Given the description of an element on the screen output the (x, y) to click on. 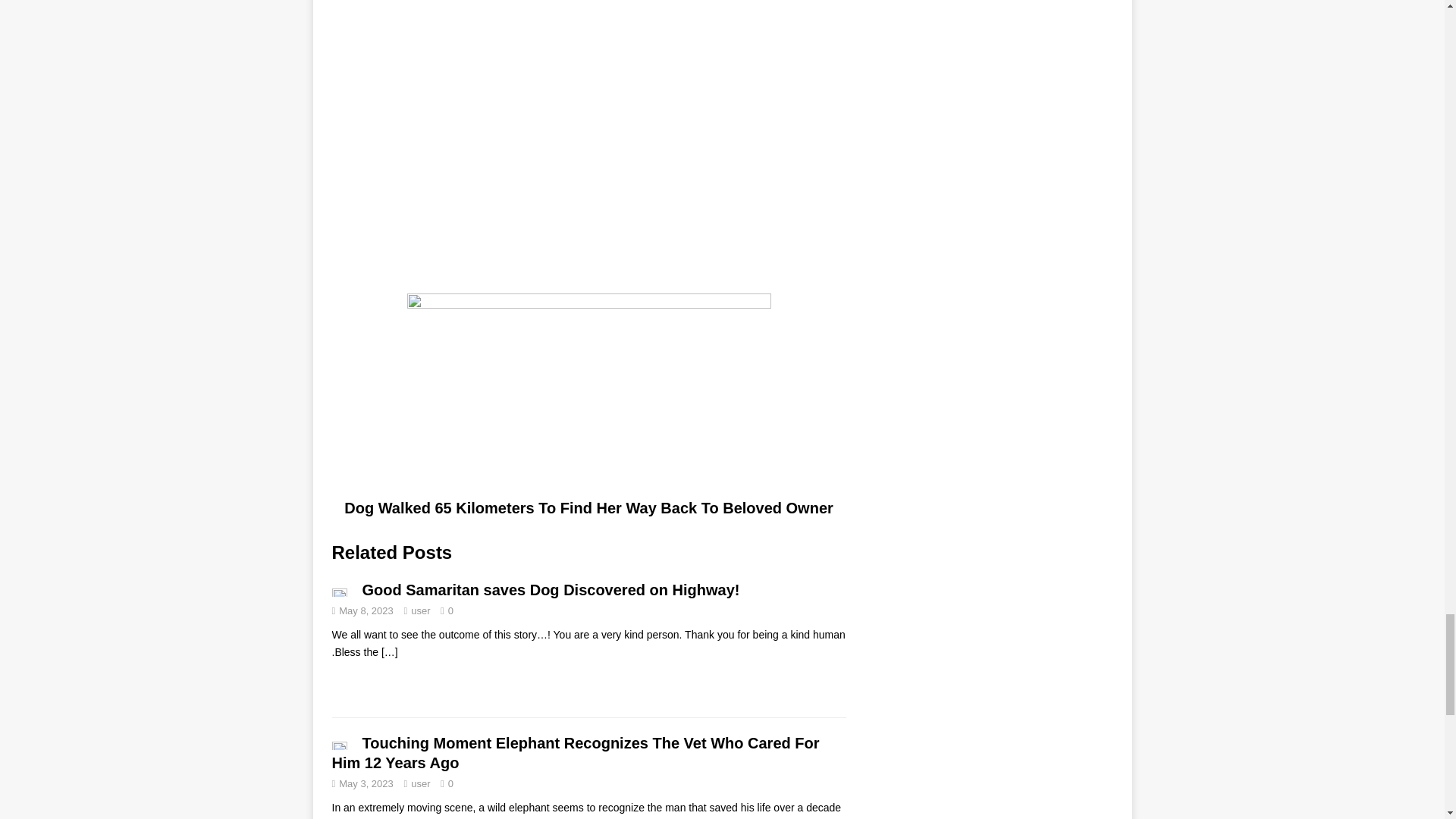
Good Samaritan saves Dog Discovered on Highway! (550, 589)
Good Samaritan saves Dog Discovered on Highway! (389, 652)
user (419, 610)
